Given the description of an element on the screen output the (x, y) to click on. 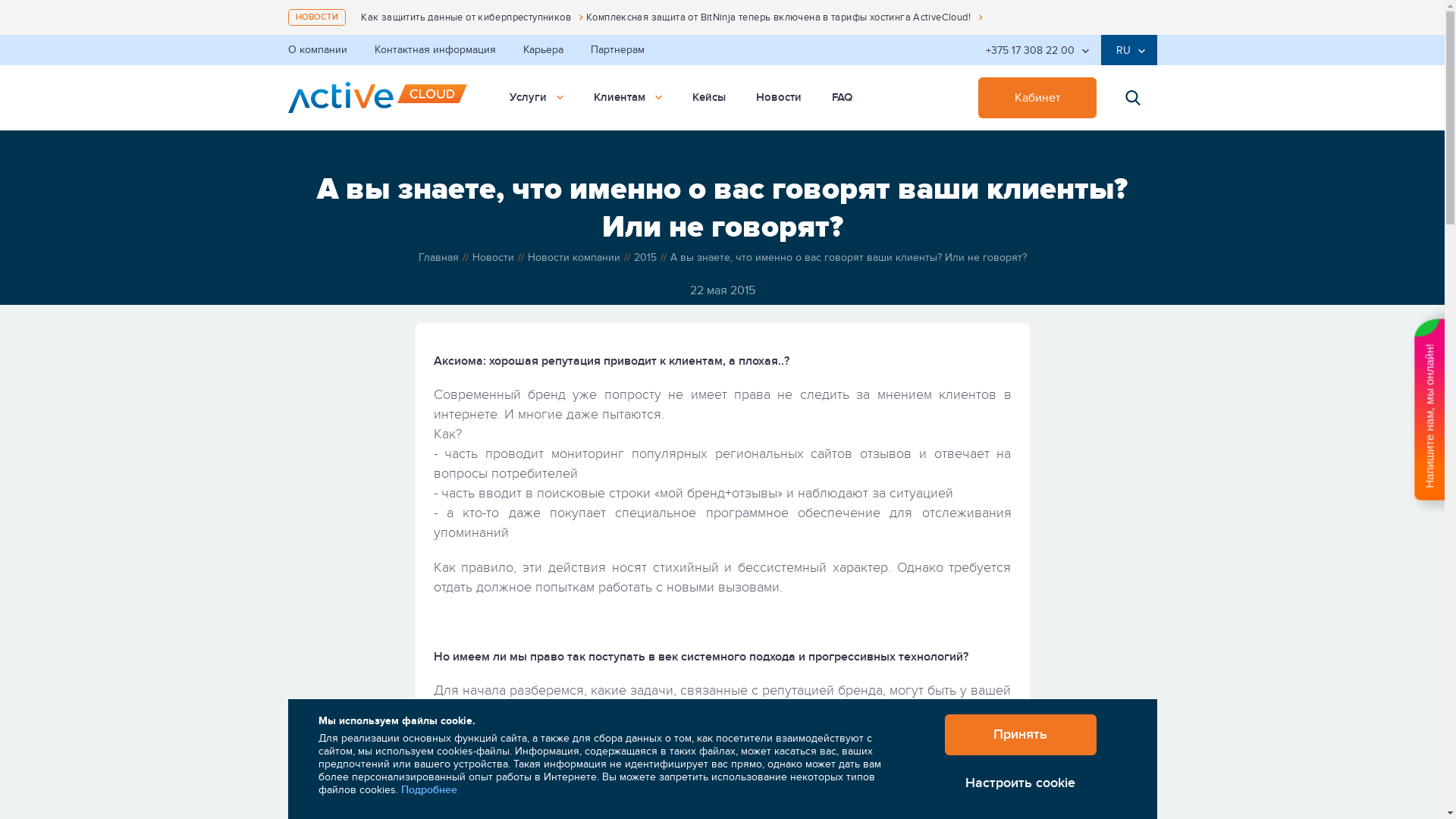
FAQ Element type: text (840, 97)
2015 Element type: text (644, 256)
